Given the description of an element on the screen output the (x, y) to click on. 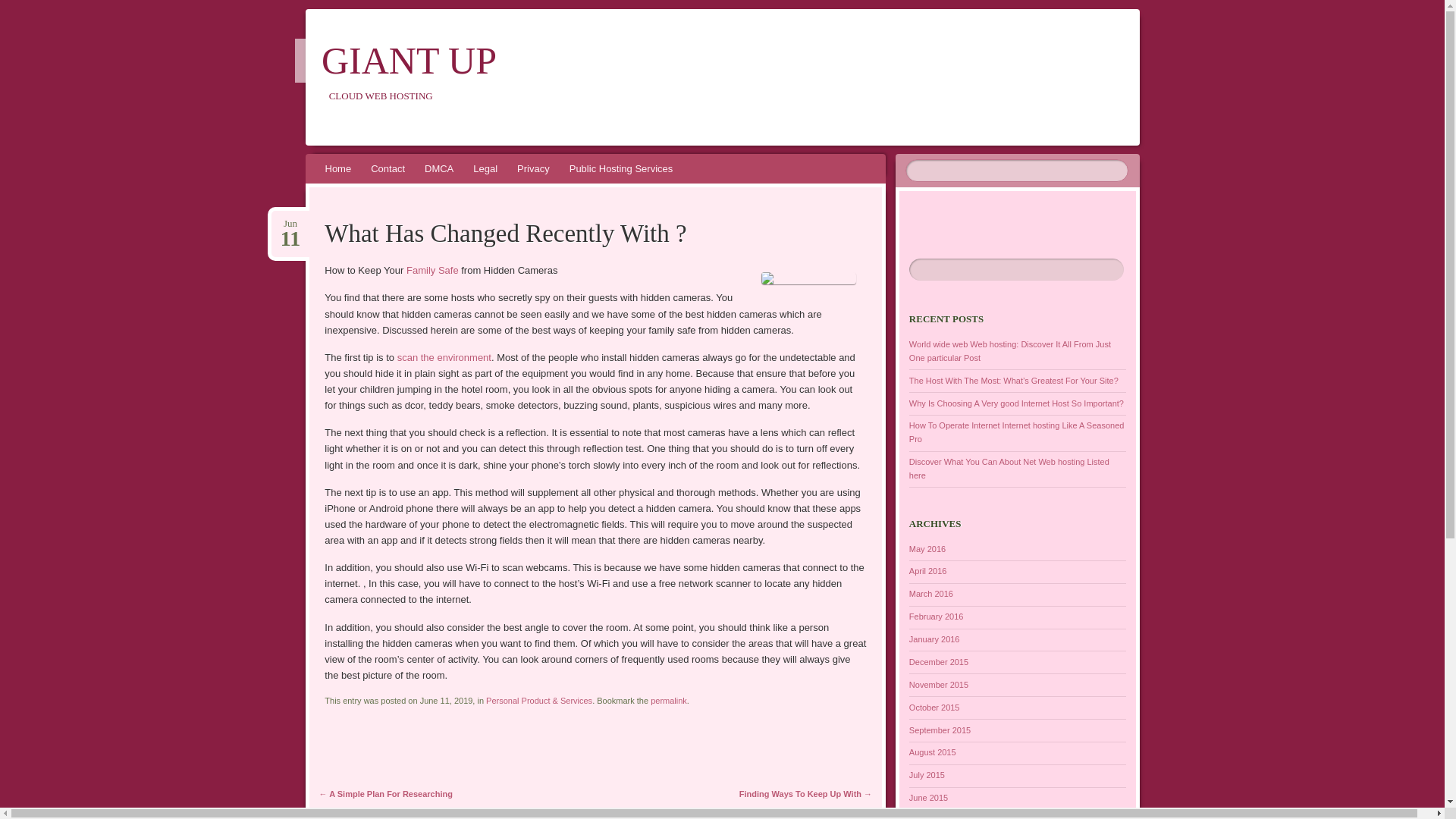
Legal (484, 168)
November 2015 (938, 684)
June 2015 (927, 797)
Why Is Choosing A Very good Internet Host So Important? (1016, 402)
August 2015 (932, 751)
Skip to content (314, 187)
Family Safe (430, 270)
March 2016 (930, 593)
May 2015 (926, 817)
Permalink to What Has Changed Recently With ? (668, 700)
Home (338, 168)
Privacy (532, 168)
July 2015 (926, 774)
Search (21, 7)
